Given the description of an element on the screen output the (x, y) to click on. 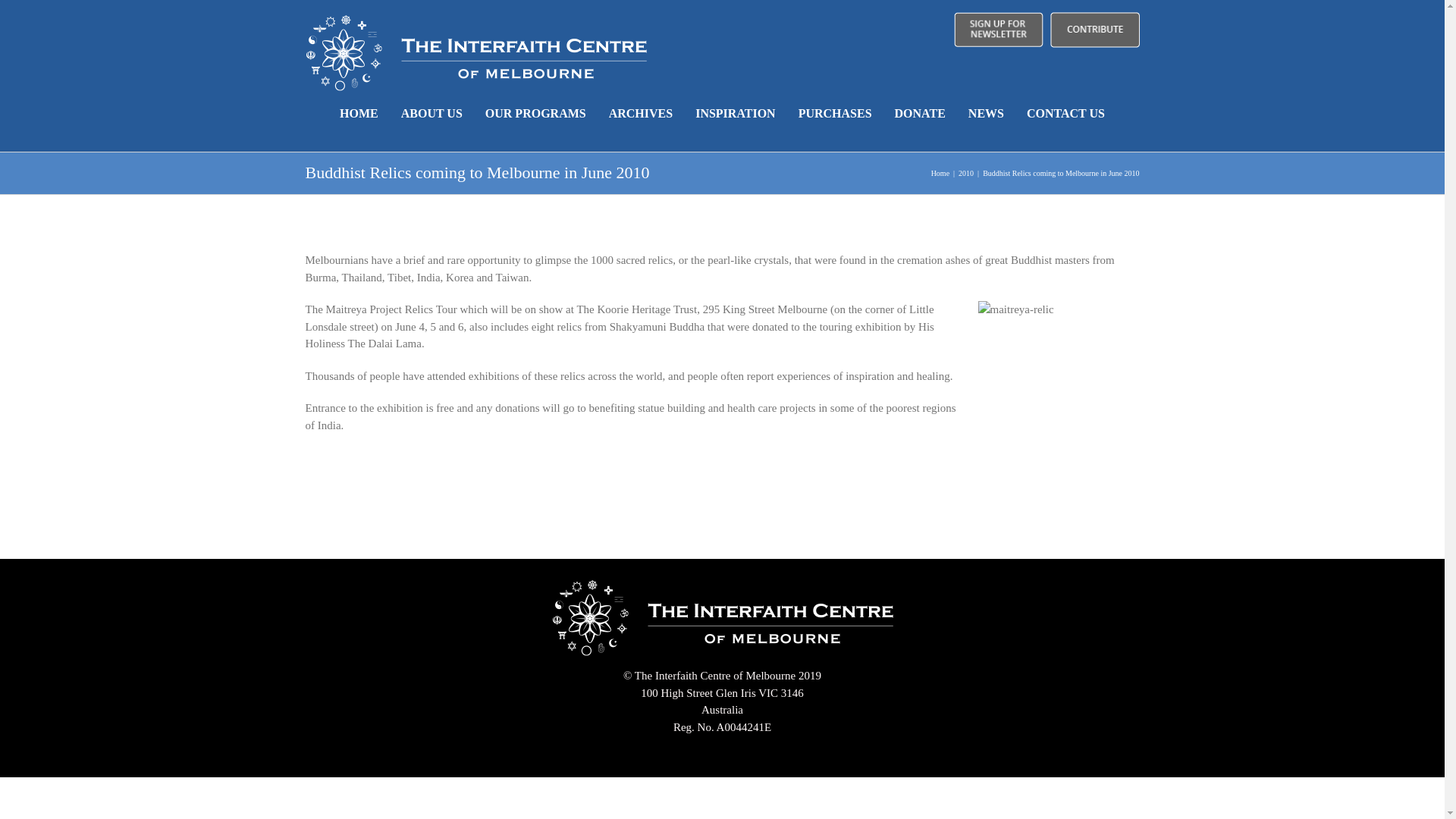
PURCHASES Element type: text (835, 113)
CONTACT US Element type: text (1065, 113)
Home Element type: text (940, 173)
2010 Element type: text (965, 173)
DONATE Element type: text (919, 113)
OUR PROGRAMS Element type: text (535, 113)
ARCHIVES Element type: text (640, 113)
HOME Element type: text (358, 113)
NEWS Element type: text (986, 113)
ABOUT US Element type: text (431, 113)
INSPIRATION Element type: text (735, 113)
